Given the description of an element on the screen output the (x, y) to click on. 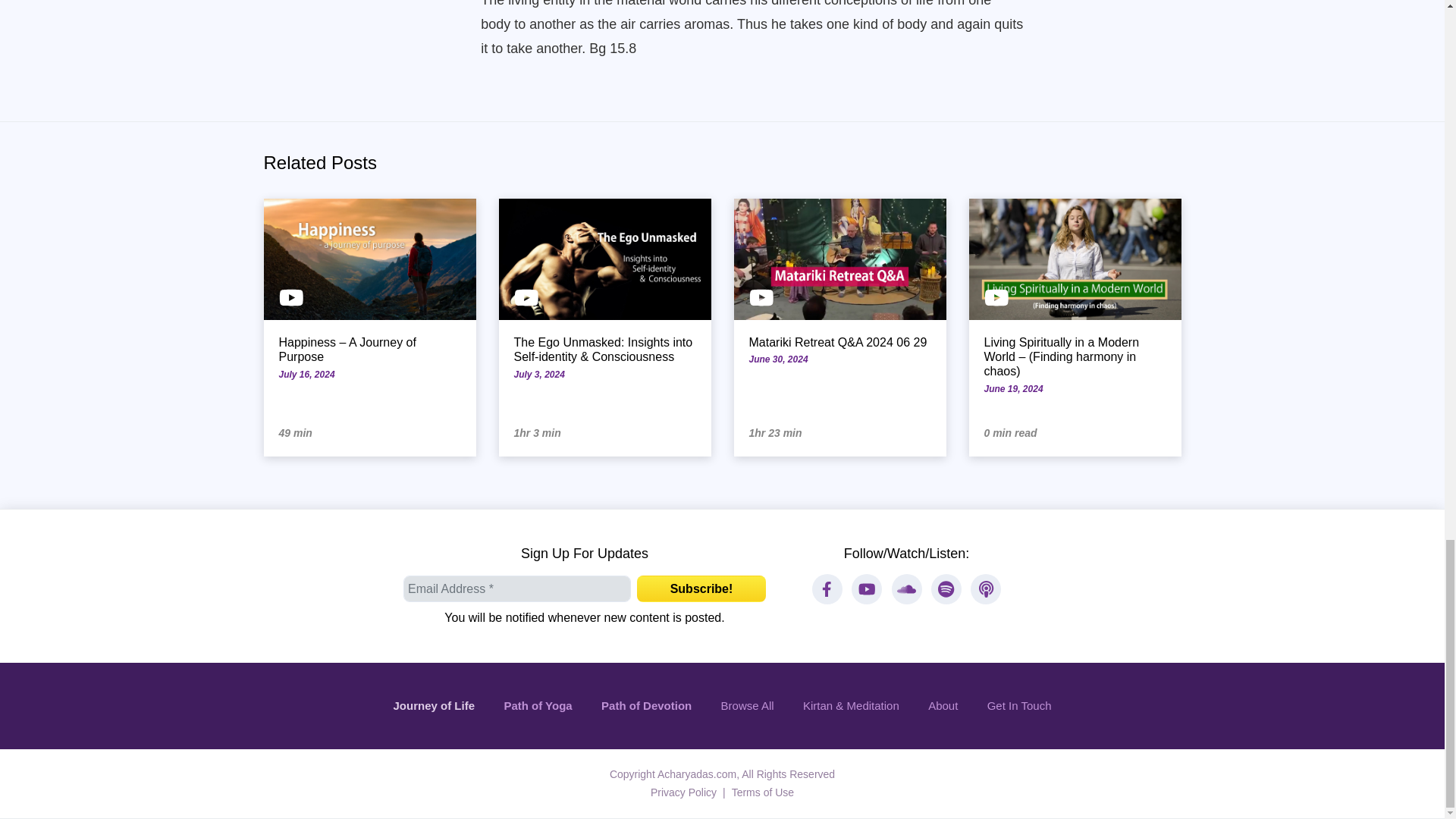
Subscribe! (701, 588)
Email Address (516, 588)
Youtube (866, 589)
Path of Devotion (646, 706)
Path of Yoga (537, 706)
Spotify (945, 589)
Browse All (746, 706)
Subscribe! (701, 588)
Soundcloud (906, 589)
Apple Podcasts (986, 589)
View Item (605, 327)
Facebook (827, 589)
View Item (369, 327)
View Item (839, 327)
View Item (1074, 327)
